Given the description of an element on the screen output the (x, y) to click on. 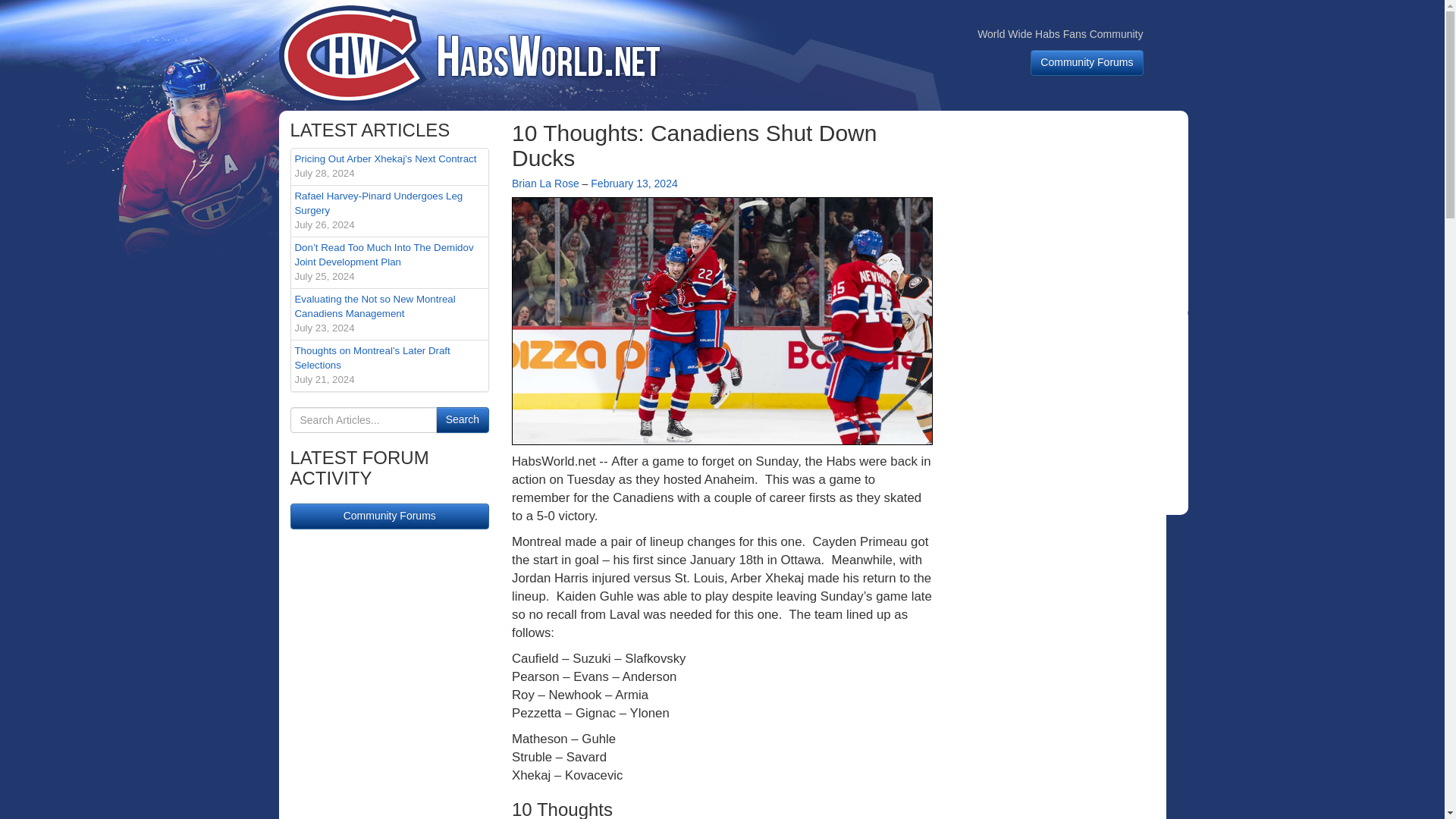
Brian La Rose (545, 183)
Search (462, 420)
Advertisement (390, 210)
Community Forums (1068, 411)
Advertisement (389, 516)
Search (1068, 215)
February 13, 2024 (462, 420)
Community Forums (634, 183)
